Given the description of an element on the screen output the (x, y) to click on. 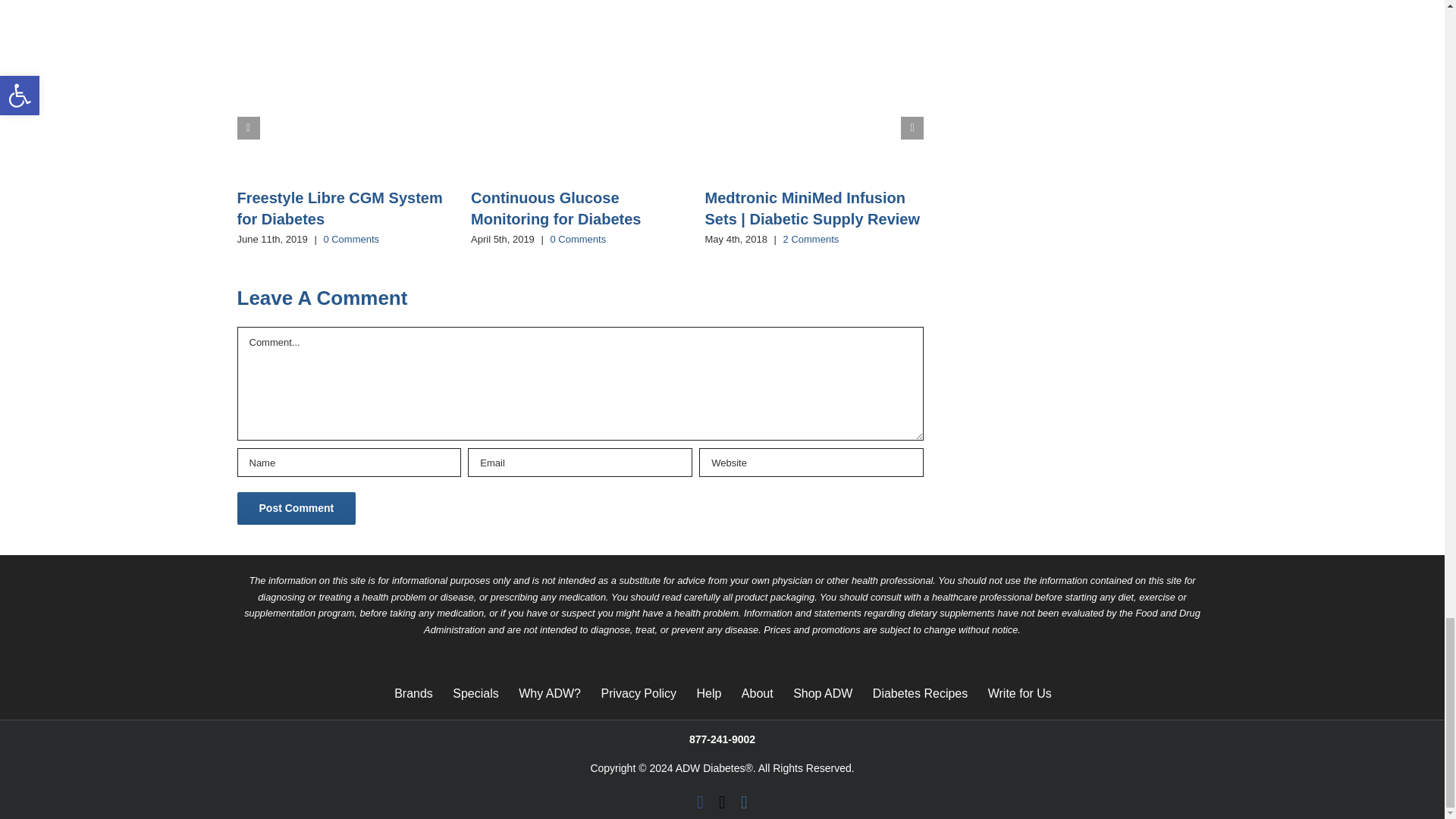
Continuous Glucose Monitoring for Diabetes (555, 208)
Post Comment (295, 508)
Freestyle Libre CGM System for Diabetes (338, 208)
